Given the description of an element on the screen output the (x, y) to click on. 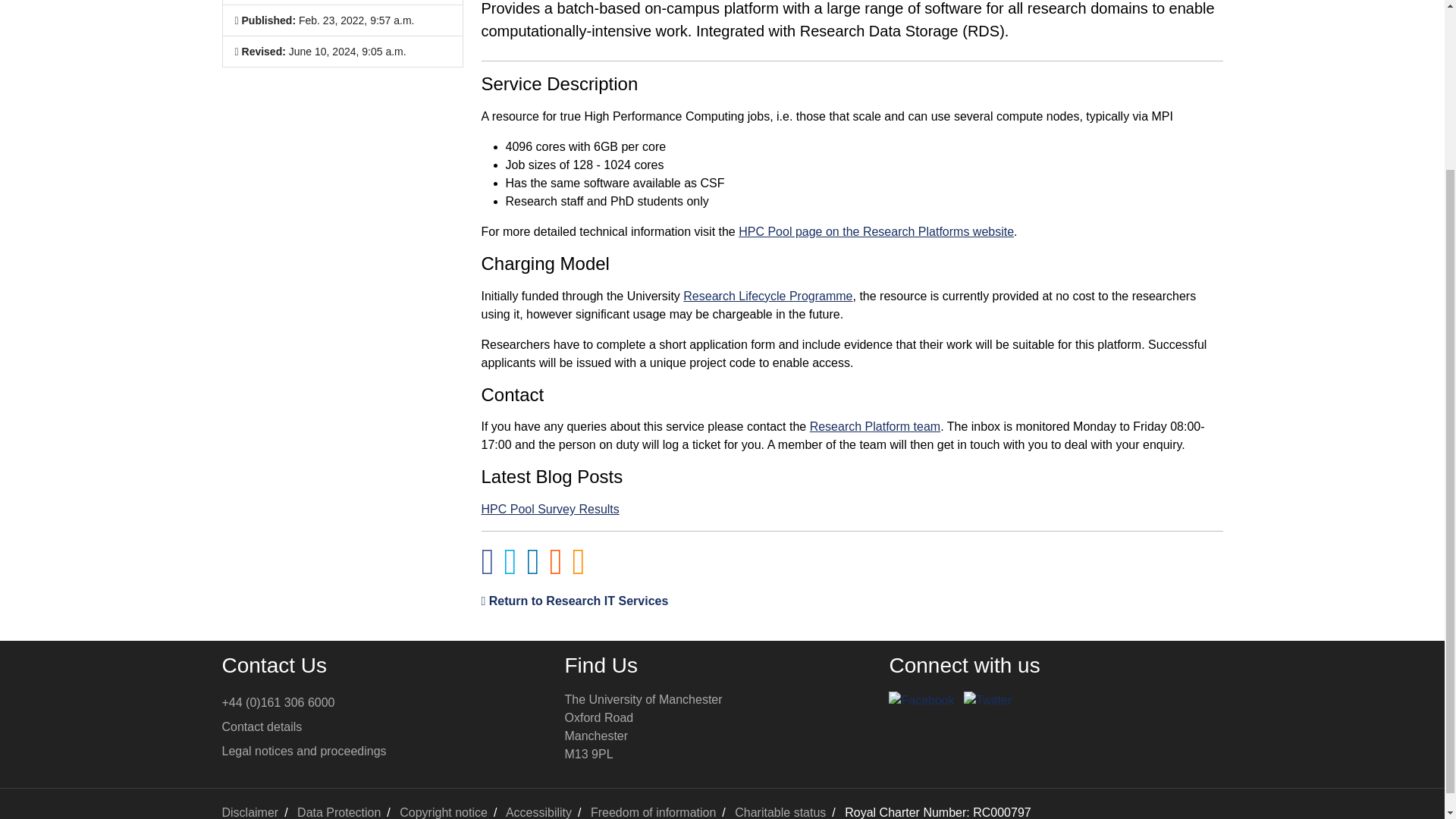
contact us by telephone (277, 702)
Contact Details page (261, 726)
HPC Pool Survey Results (549, 508)
Return to Research IT Services (574, 600)
Research Lifecycle Programme (766, 295)
HPC Pool page on the Research Platforms website (875, 231)
Contact details (261, 726)
Research Platform team (643, 726)
Legal notices and proceedings (874, 426)
